Given the description of an element on the screen output the (x, y) to click on. 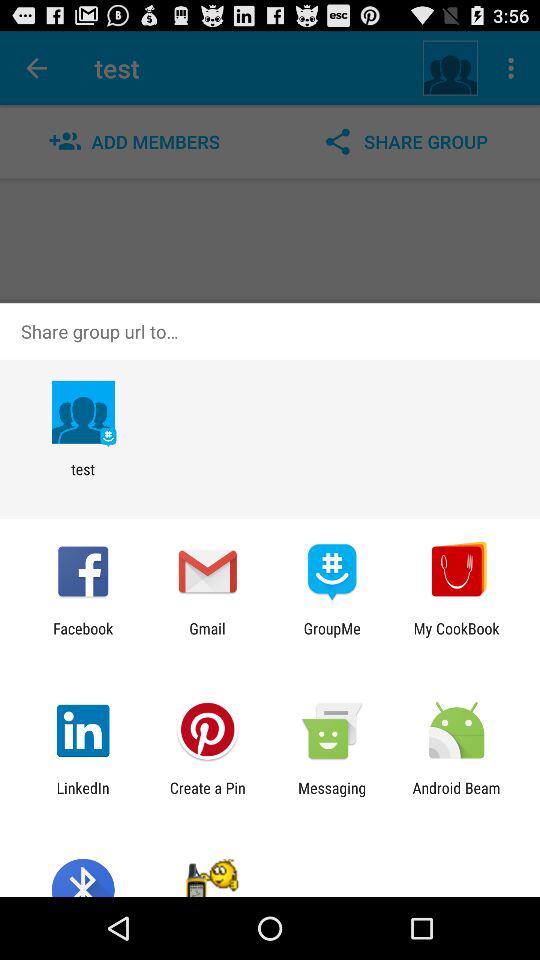
press icon to the left of messaging app (207, 796)
